Given the description of an element on the screen output the (x, y) to click on. 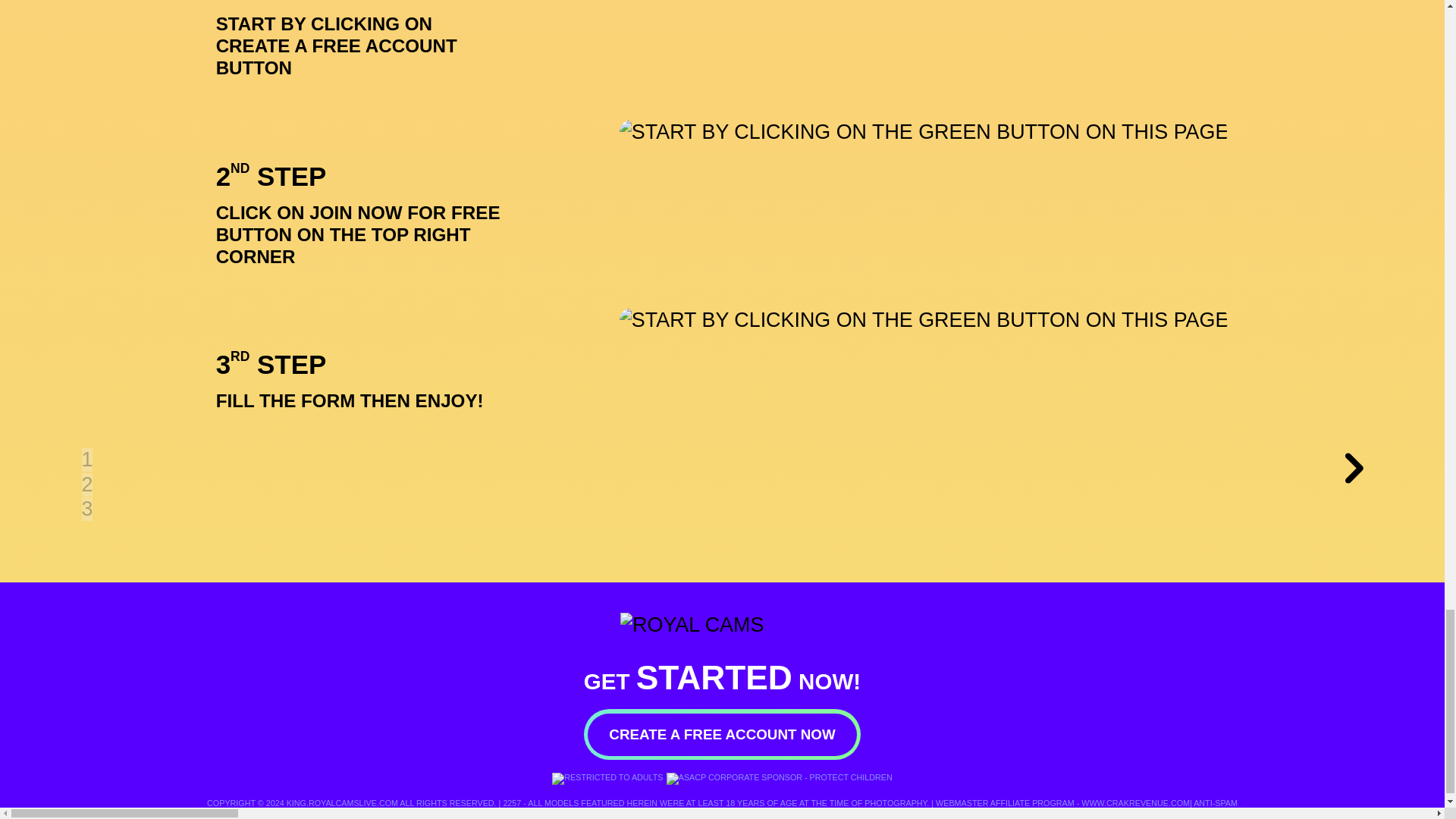
CREATE A FREE ACCOUNT NOW (722, 734)
